Given the description of an element on the screen output the (x, y) to click on. 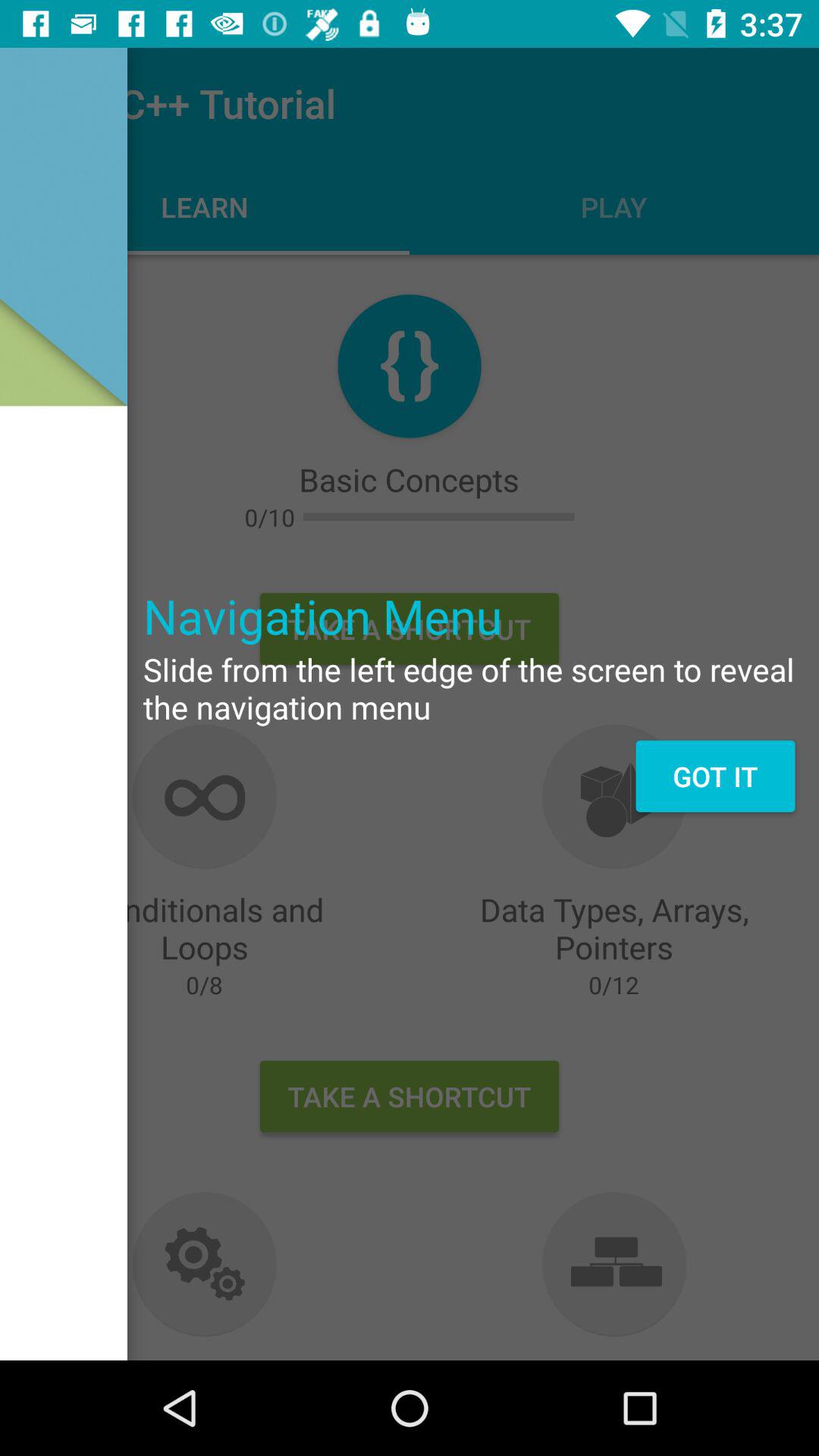
click got it icon (715, 776)
